Given the description of an element on the screen output the (x, y) to click on. 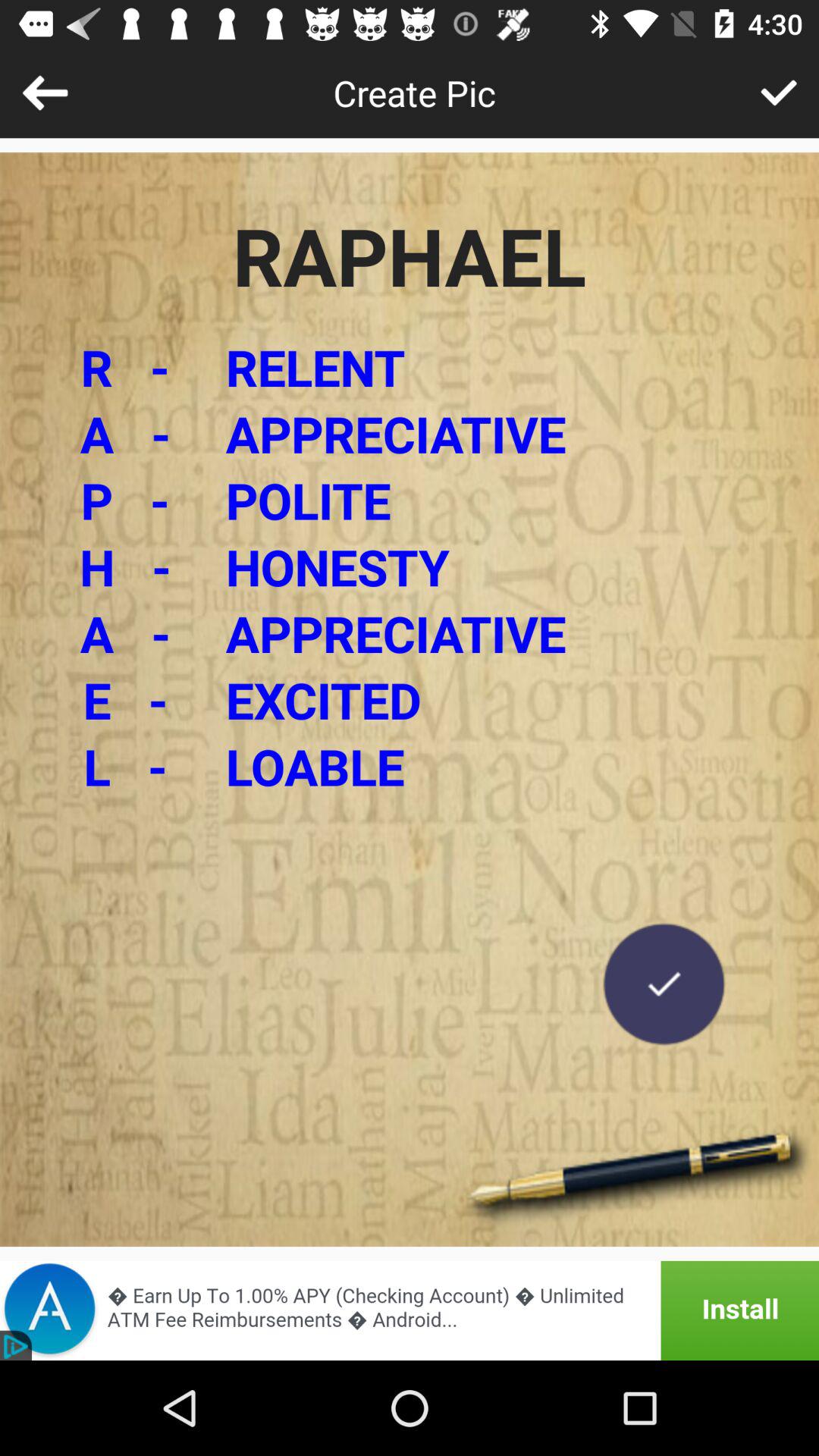
approve the image (778, 92)
